Given the description of an element on the screen output the (x, y) to click on. 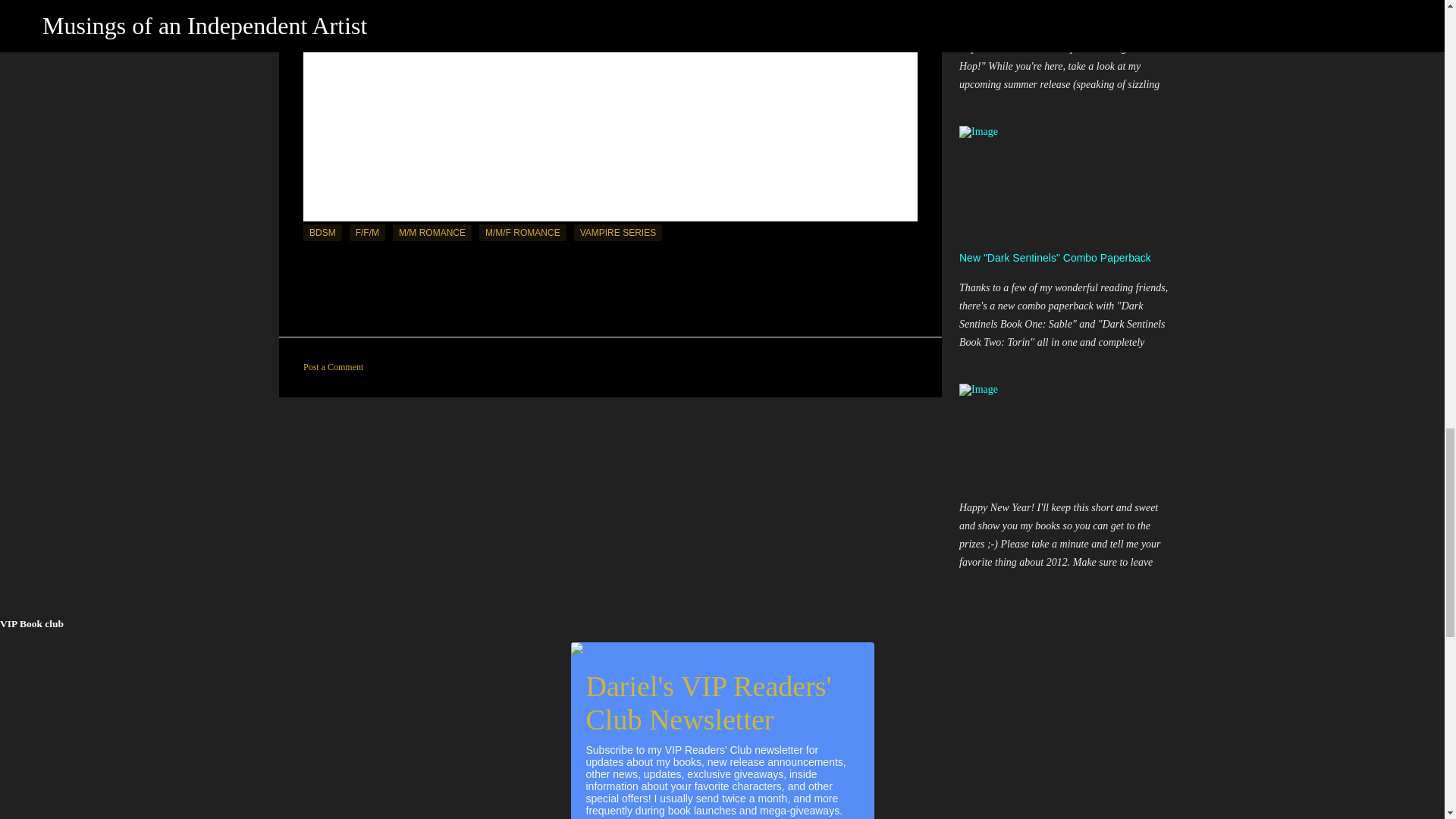
BDSM (322, 232)
VAMPIRE SERIES (617, 232)
Post a Comment (332, 366)
